Given the description of an element on the screen output the (x, y) to click on. 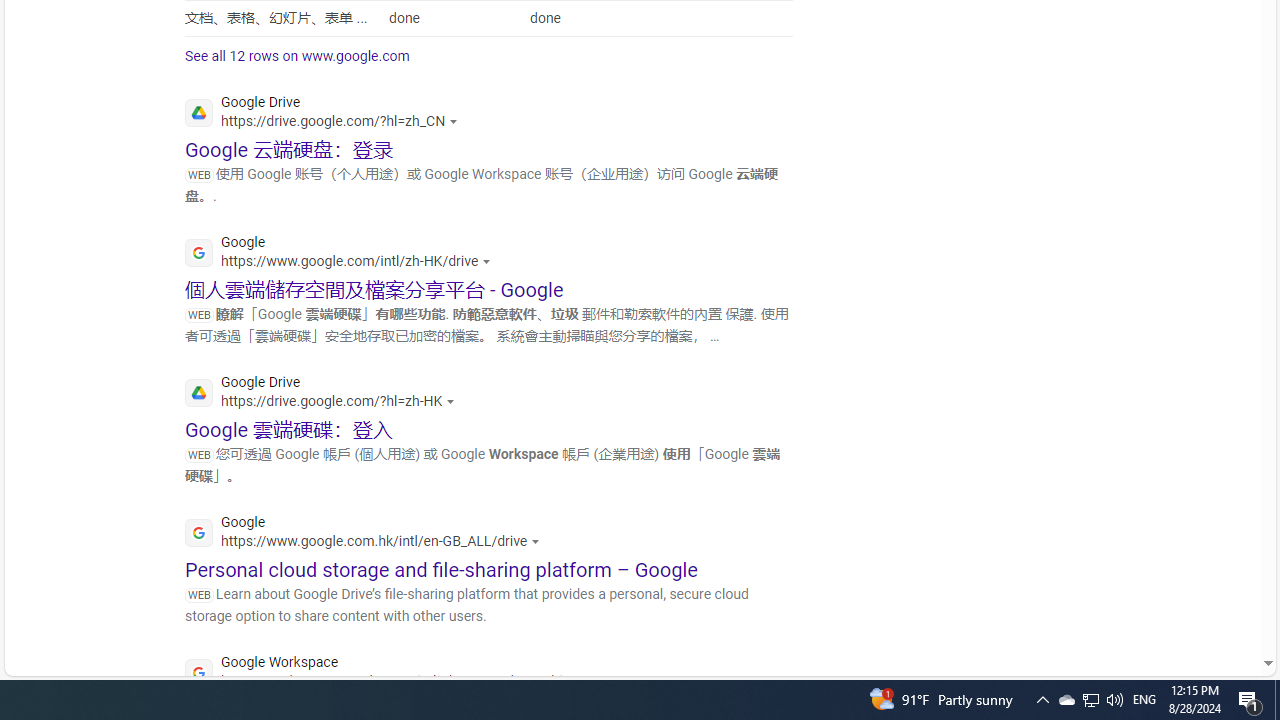
Search more (1222, 604)
Google Drive (325, 394)
Google Workspace (392, 674)
AutomationID: mfa_root (1192, 603)
Google (367, 534)
Global web icon (198, 673)
Actions for this site (588, 681)
